Given the description of an element on the screen output the (x, y) to click on. 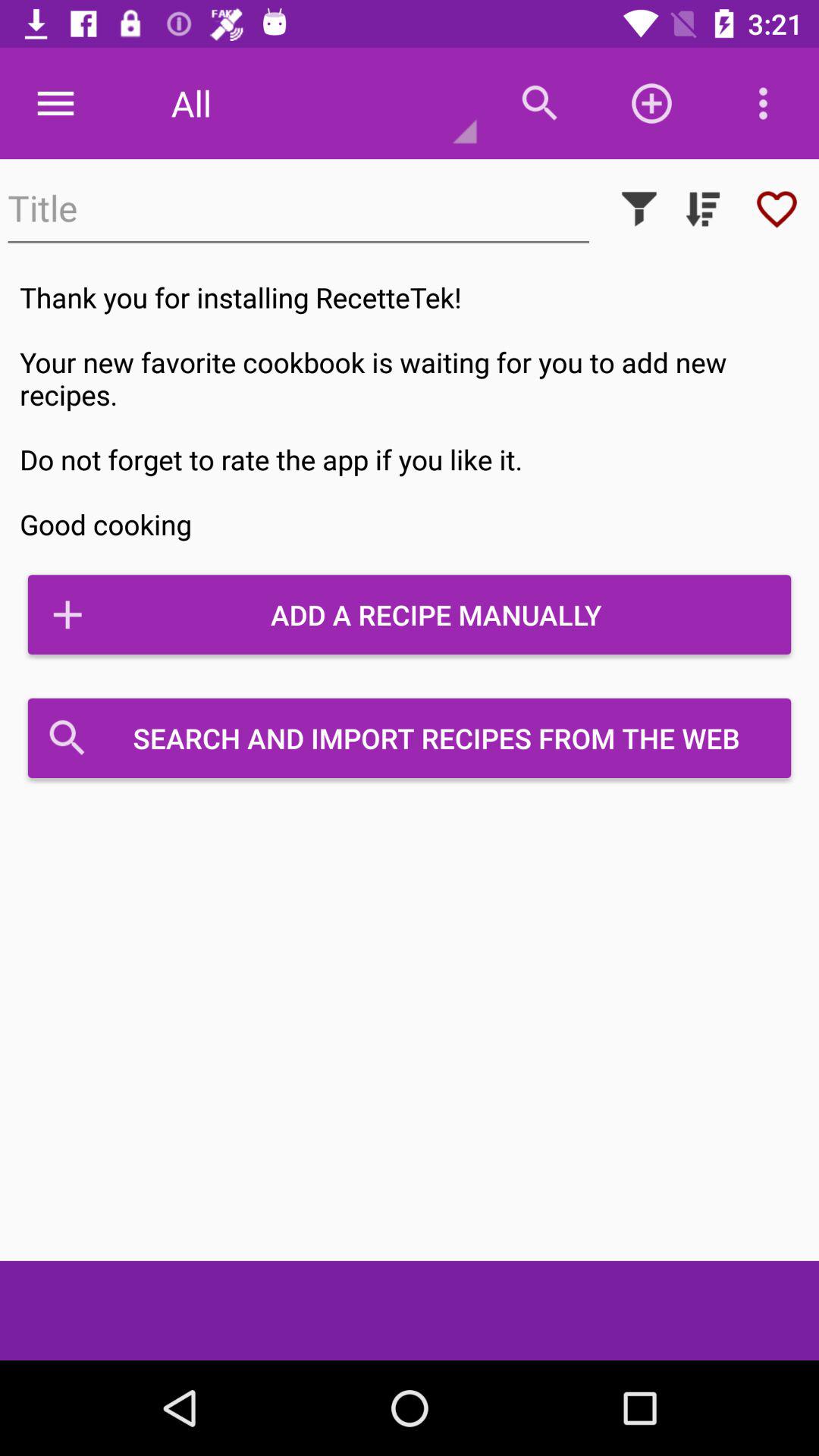
add text (298, 208)
